Given the description of an element on the screen output the (x, y) to click on. 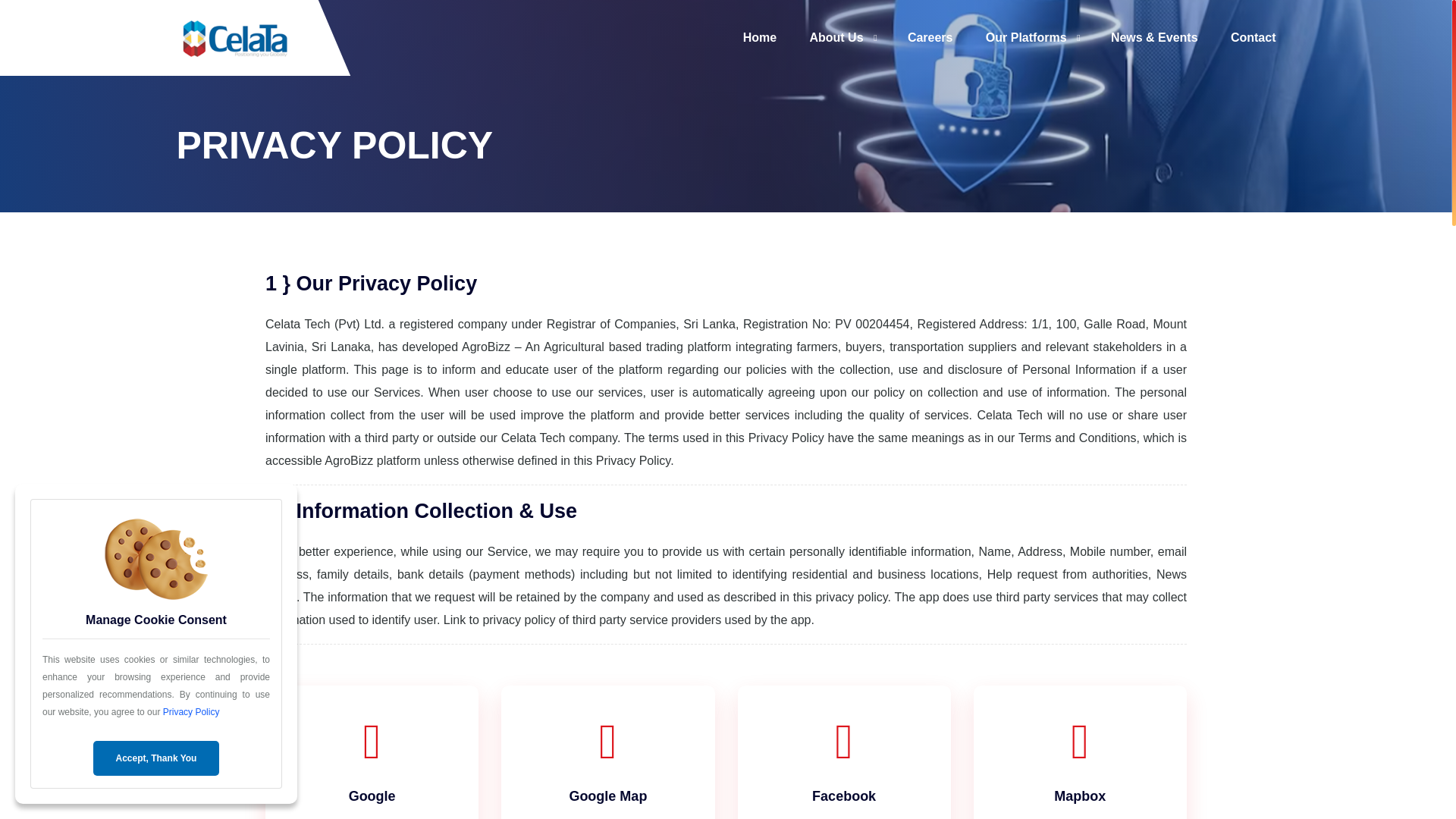
About Us (836, 37)
Home (759, 37)
Accept, Thank You (156, 758)
Our Platforms (1026, 37)
Contact (1253, 37)
Privacy Policy (191, 711)
Careers (930, 37)
